Given the description of an element on the screen output the (x, y) to click on. 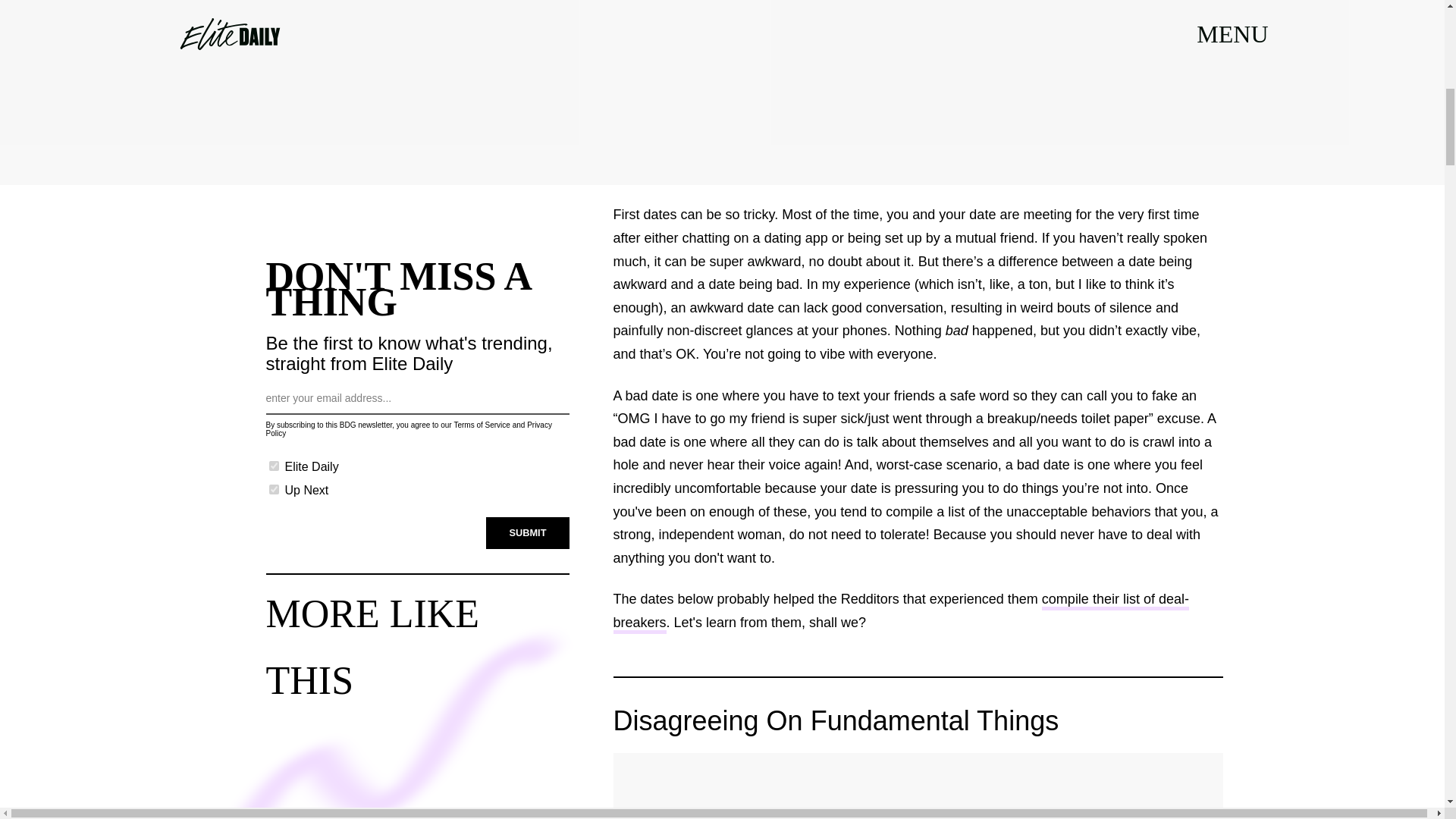
Terms of Service (480, 424)
SUBMIT (527, 532)
compile their list of deal-breakers (900, 612)
Privacy Policy (407, 428)
